Given the description of an element on the screen output the (x, y) to click on. 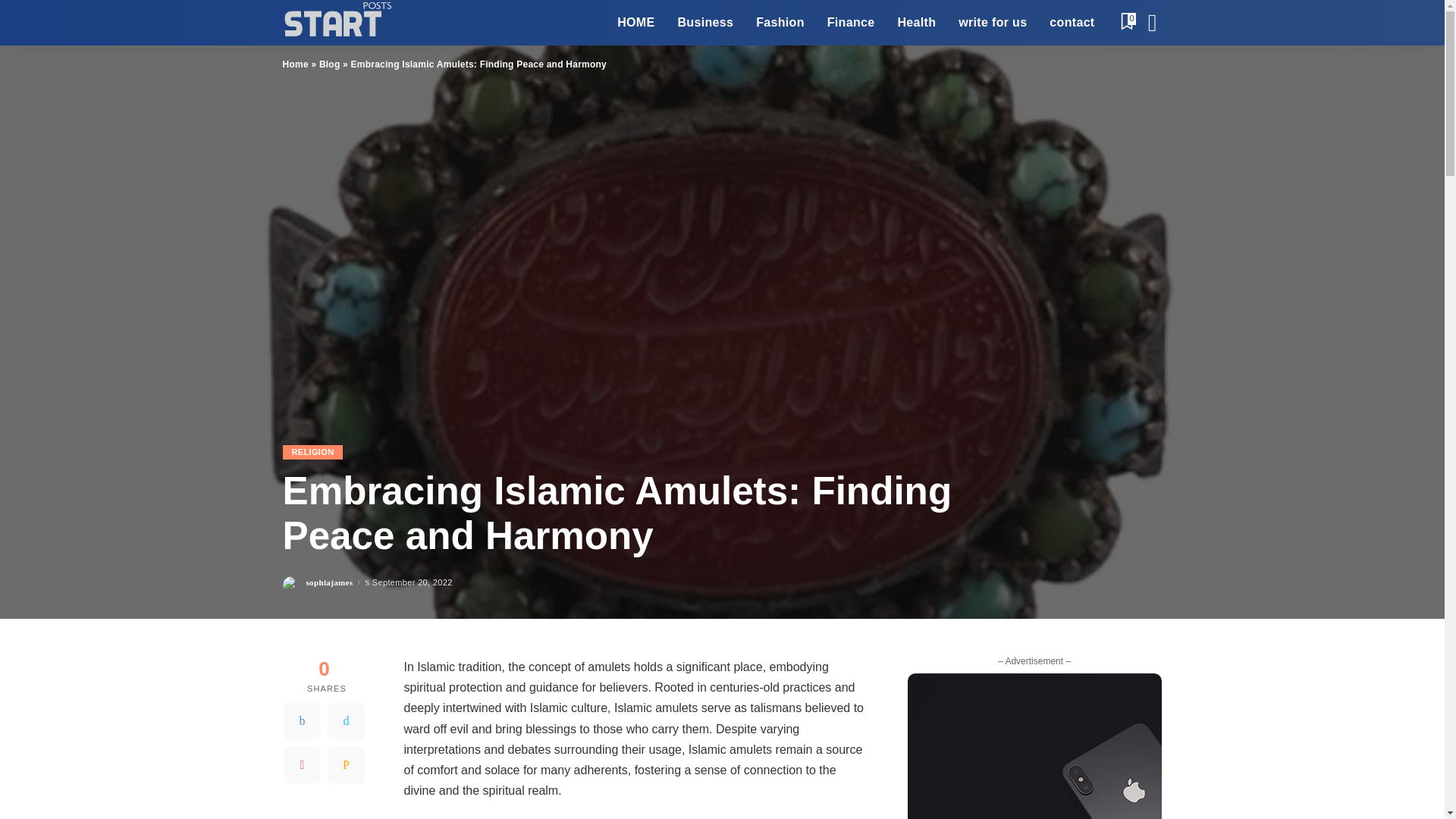
Search (1140, 65)
Business (704, 22)
Health (916, 22)
write for us (992, 22)
Start Posts (336, 22)
HOME (635, 22)
contact (1071, 22)
Finance (850, 22)
Fashion (779, 22)
